Given the description of an element on the screen output the (x, y) to click on. 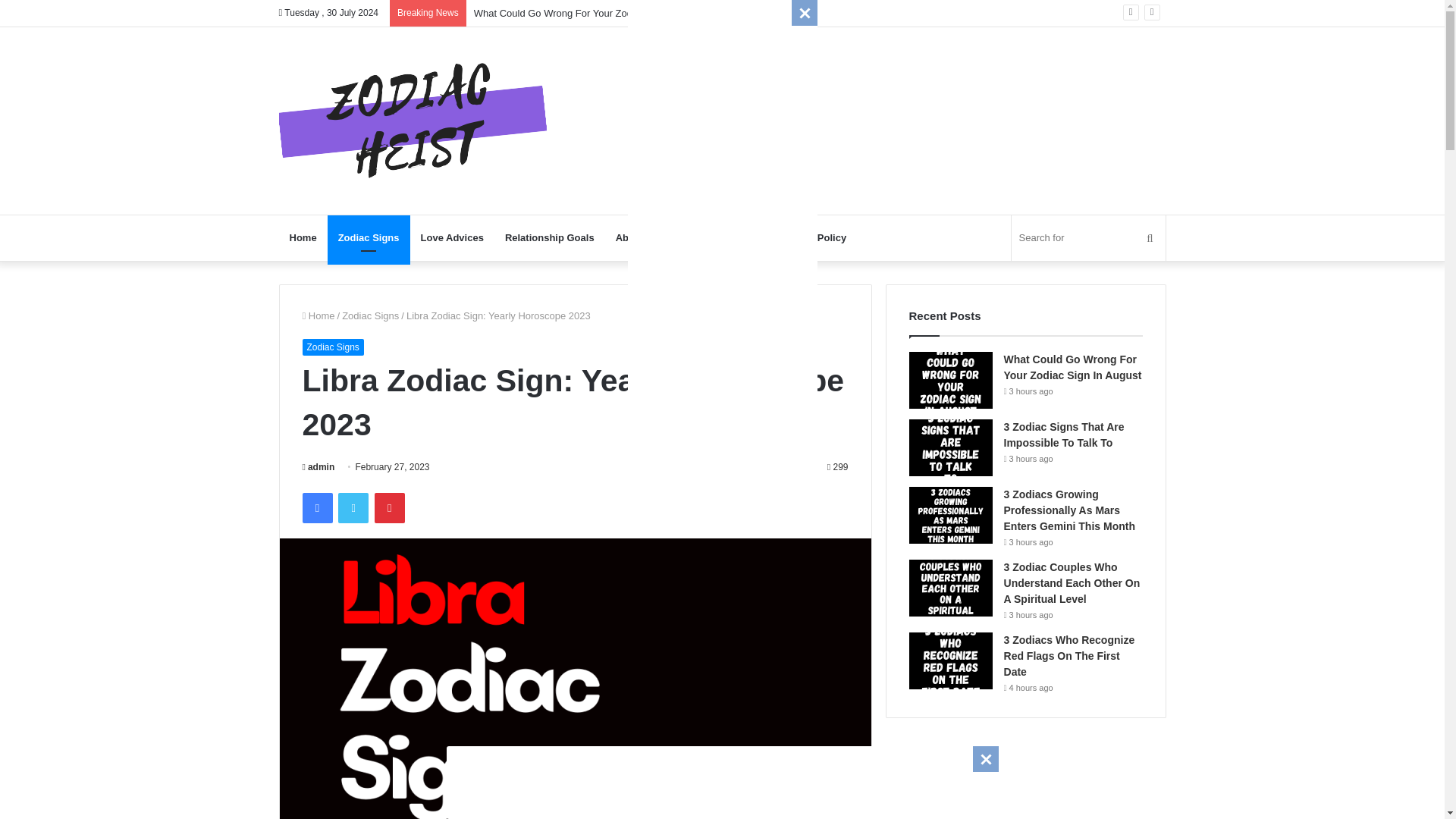
Facebook (316, 508)
Twitter (352, 508)
admin (317, 466)
Zodiac Signs (370, 315)
Privacy Policy (812, 238)
What Could Go Wrong For Your Zodiac Sign In August (1072, 366)
Pinterest (389, 508)
admin (317, 466)
Facebook (316, 508)
Twitter (352, 508)
About Us (735, 238)
Zodiac Signs (368, 238)
Home (317, 315)
Relationship Goals (550, 238)
What Could Go Wrong For Your Zodiac Sign In August (592, 12)
